Given the description of an element on the screen output the (x, y) to click on. 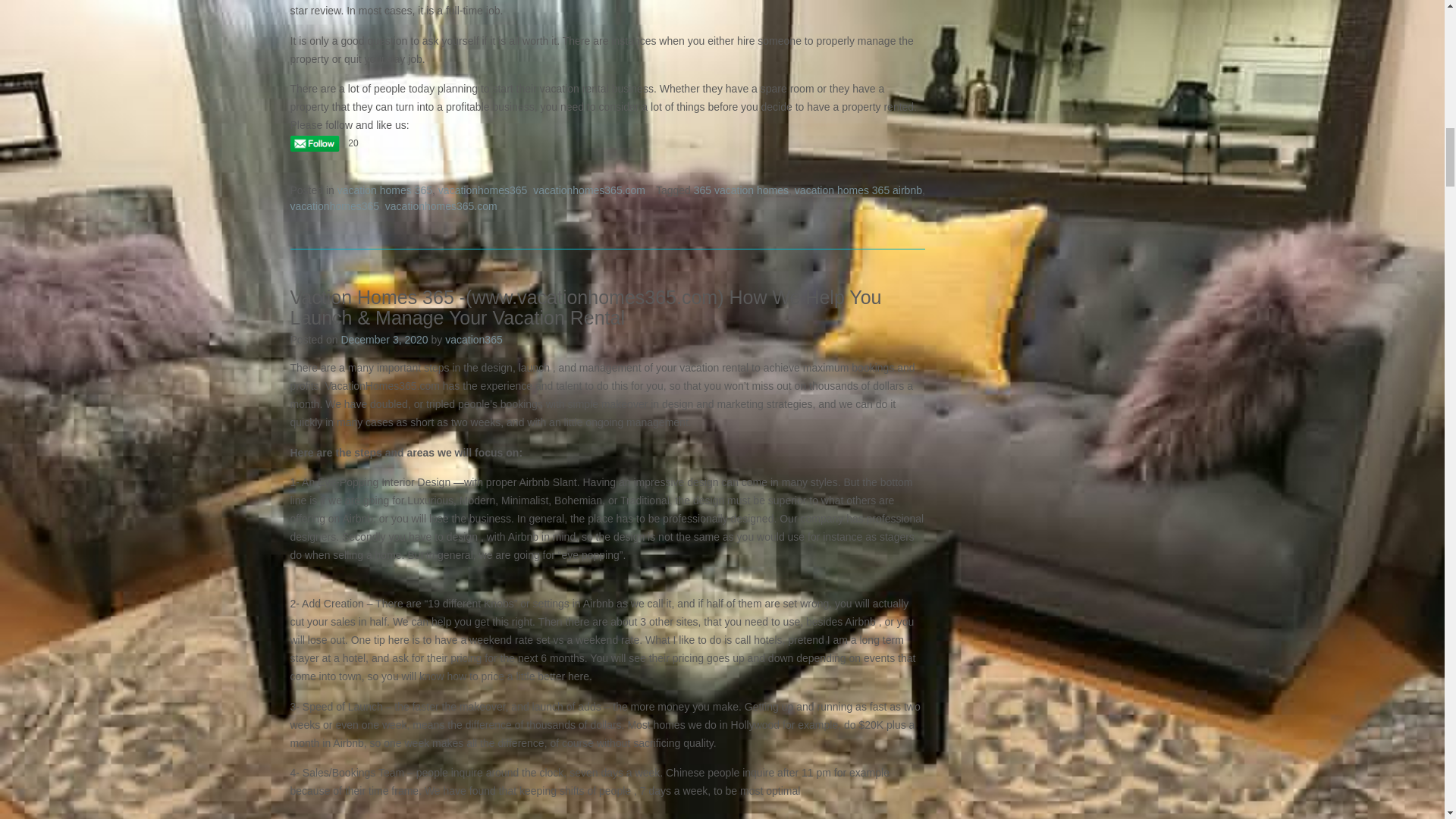
vacation homes 365 (384, 190)
vacationhomes365.com (441, 205)
vacationhomes365 (482, 190)
vacationhomes365.com (588, 190)
365 vacation homes (741, 190)
vacation365 (473, 339)
vacationhomes365 (333, 205)
vacation homes 365 airbnb (857, 190)
December 3, 2020 (384, 339)
